Given the description of an element on the screen output the (x, y) to click on. 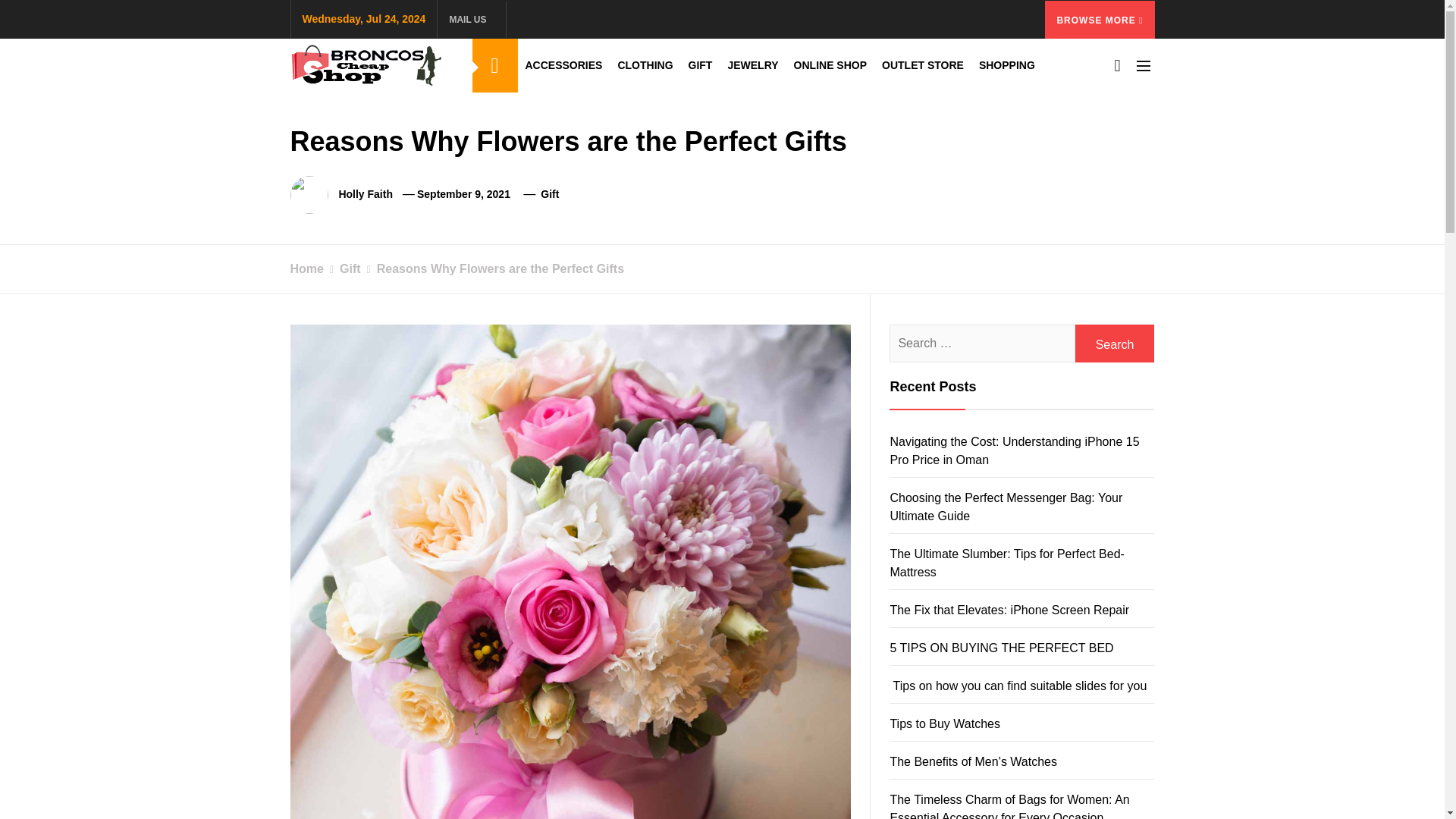
ACCESSORIES (563, 65)
Gift (549, 193)
Gift (342, 268)
CLOTHING (644, 65)
Search (1114, 343)
ONLINE SHOP (830, 65)
Home (306, 268)
Search (1114, 343)
MAIL US (470, 18)
SHOPPING (1006, 65)
September 9, 2021 (463, 193)
Holly Faith (365, 193)
BROWSE MORE (1099, 18)
JEWELRY (752, 65)
Reasons Why Flowers are the Perfect Gifts (492, 268)
